Given the description of an element on the screen output the (x, y) to click on. 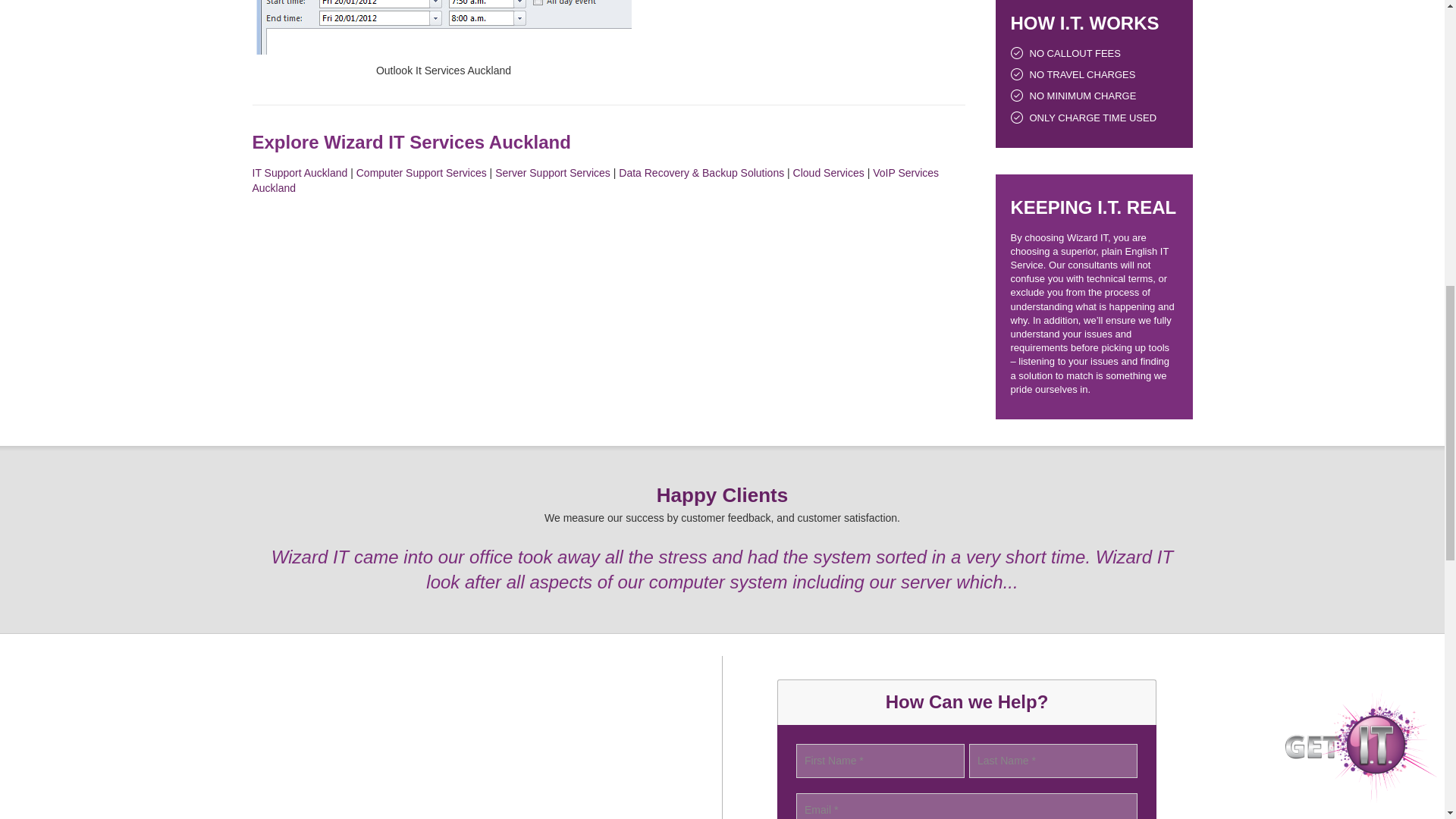
VoIP Services Auckland (595, 180)
IT Support Auckland (299, 173)
Computer Support Services (421, 173)
Cloud Services Auckland (828, 173)
Data Recovery and Backup Solution (701, 173)
Computer Support Services Auckland (421, 173)
VoIP Services Auckland (595, 180)
Server Support Services Auckland (552, 173)
Cool Trick for Outlook Appointments (443, 27)
IT Support Services Auckland (299, 173)
